Given the description of an element on the screen output the (x, y) to click on. 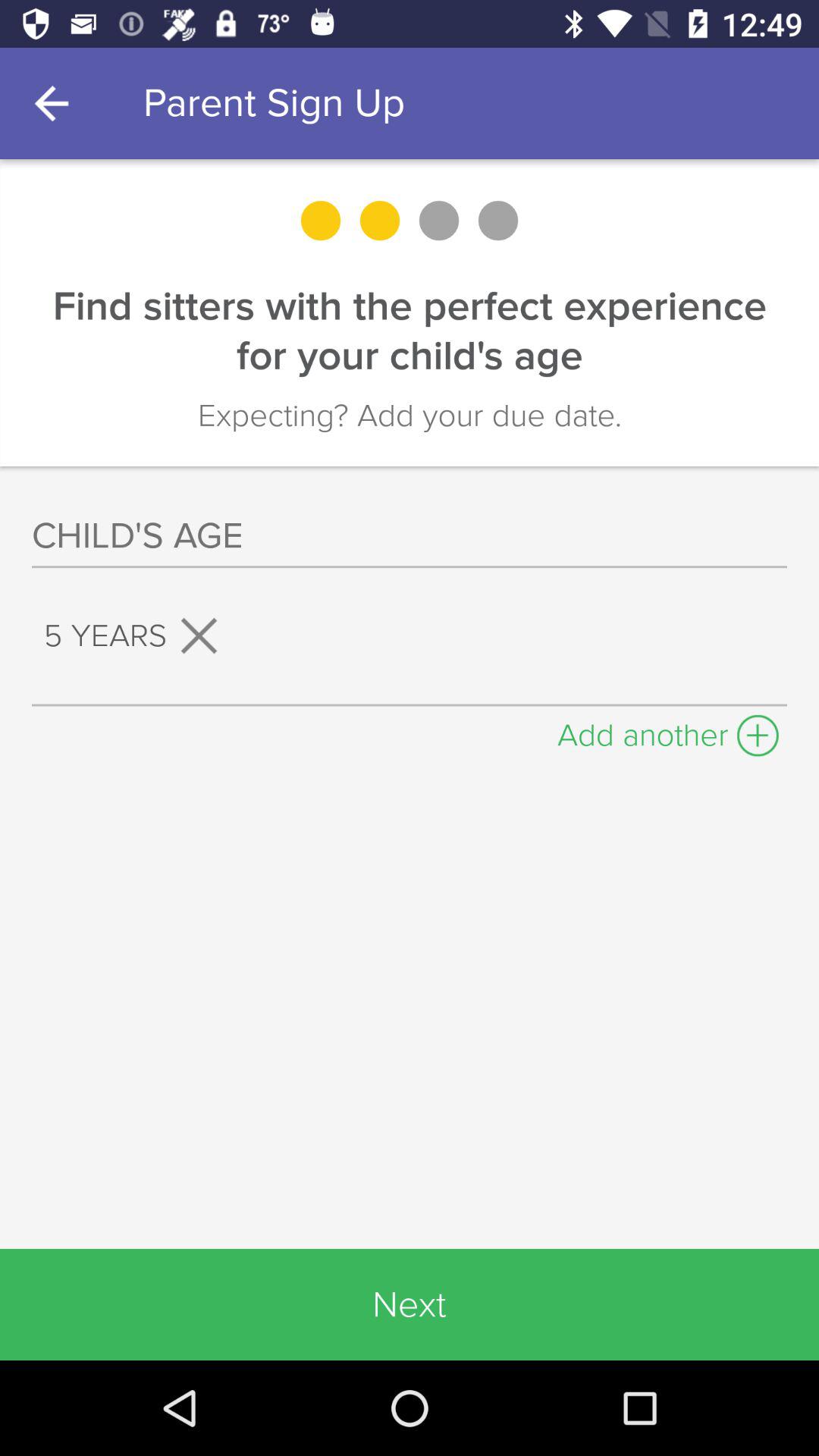
scroll until next item (409, 1304)
